Given the description of an element on the screen output the (x, y) to click on. 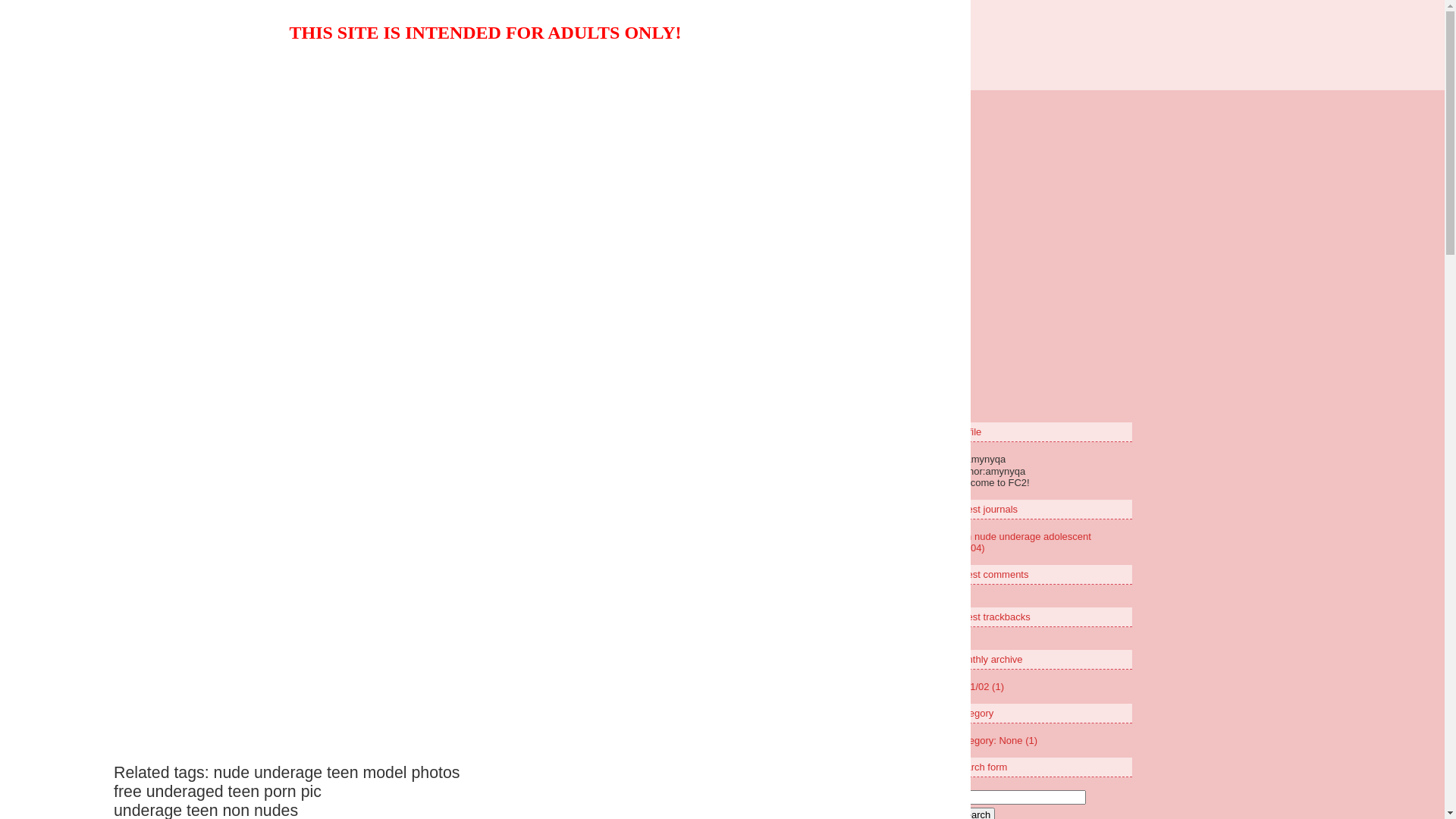
Category: None (1) Element type: text (995, 740)
Comments : 0 Element type: text (756, 194)
Non nude underage adolescent (02/04) Element type: text (1022, 541)
Nature underage nudes Element type: text (721, 38)
Pagetop Element type: text (874, 329)
Category: None Element type: text (671, 194)
HOME Element type: text (613, 268)
2011/02 (1) Element type: text (978, 686)
Non nude underage adolescent Element type: text (434, 146)
Pagetop Element type: text (851, 234)
Trackbacks : 0 Element type: text (837, 194)
